Given the description of an element on the screen output the (x, y) to click on. 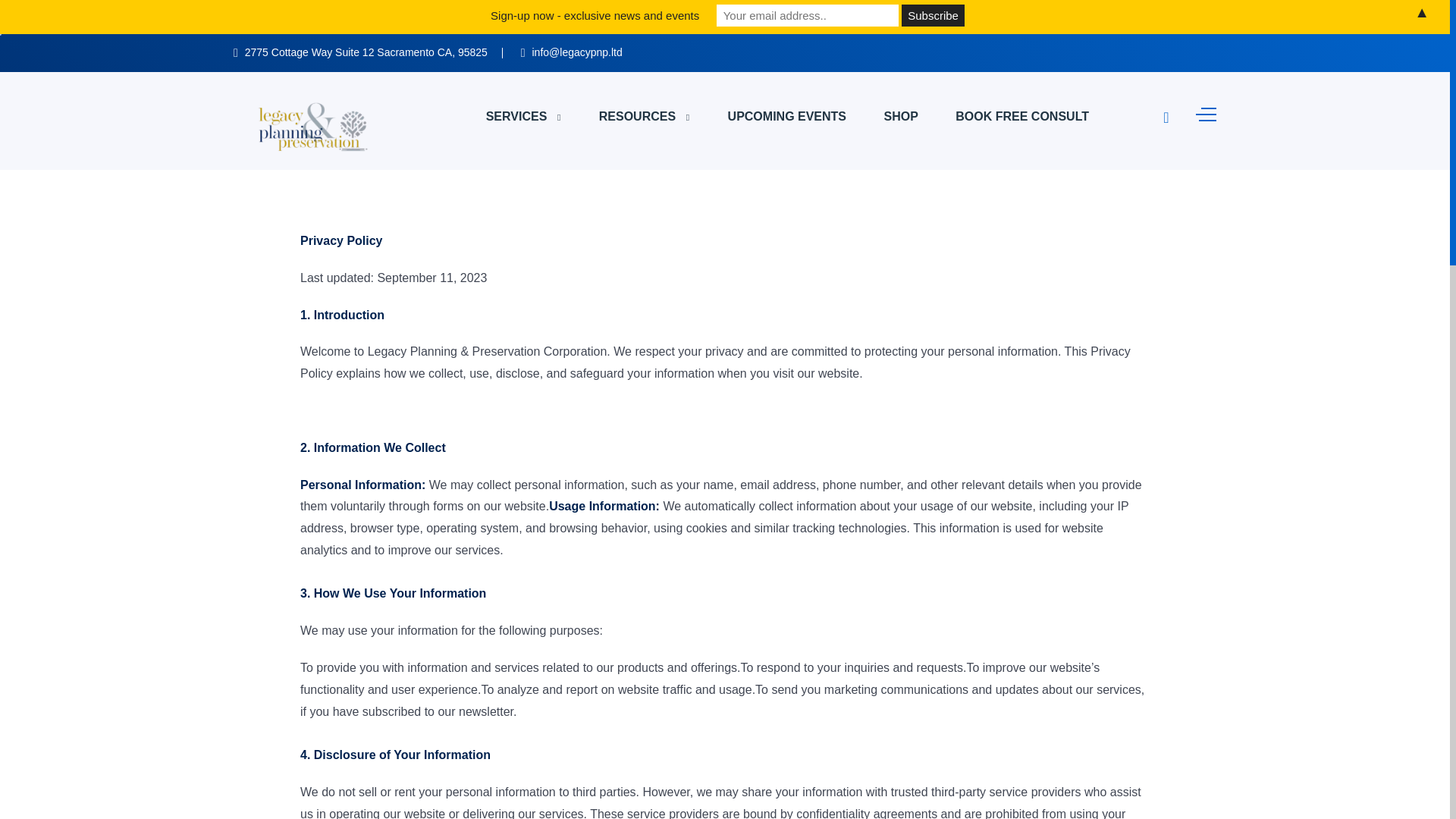
Subscribe (933, 15)
UPCOMING EVENTS (786, 117)
Subscribe (933, 15)
BOOK FREE CONSULT (1022, 117)
